Given the description of an element on the screen output the (x, y) to click on. 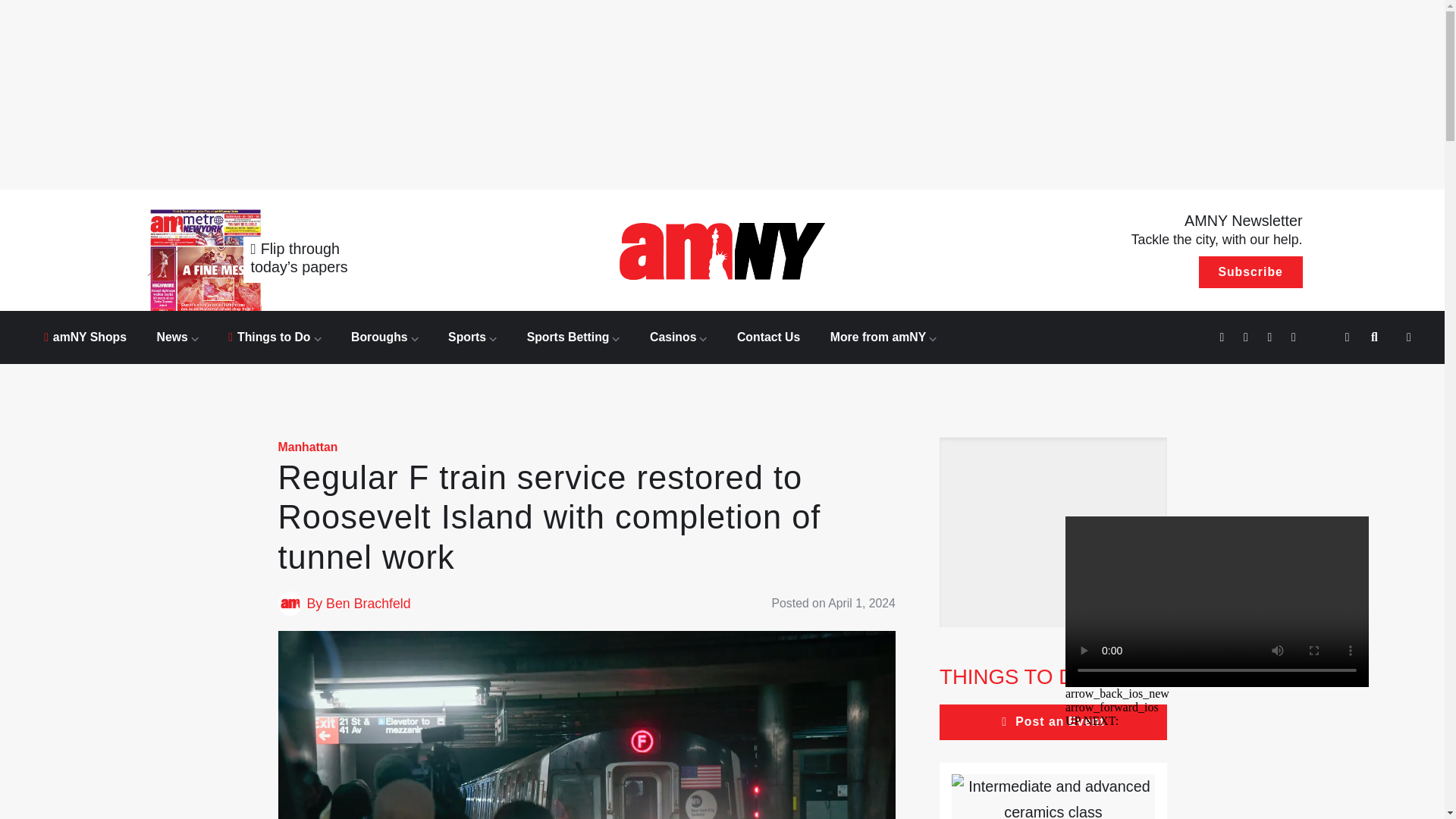
News (176, 336)
Things to Do (274, 336)
Subscribe (1250, 272)
Sports (472, 336)
Posts by Ben Brachfeld (368, 603)
amNY Shops (84, 336)
Boroughs (384, 336)
